Given the description of an element on the screen output the (x, y) to click on. 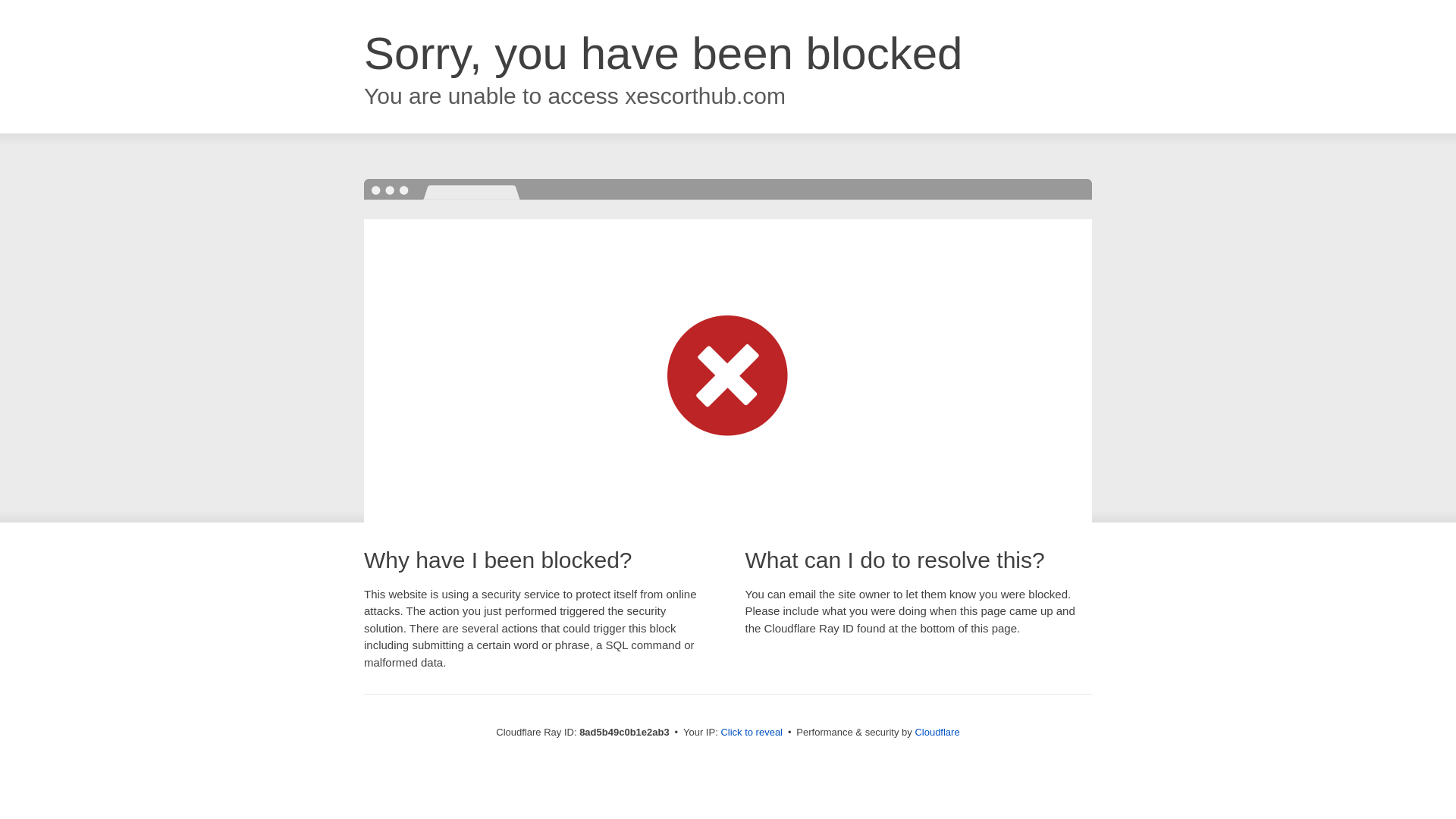
Cloudflare (936, 731)
Click to reveal (751, 732)
